Given the description of an element on the screen output the (x, y) to click on. 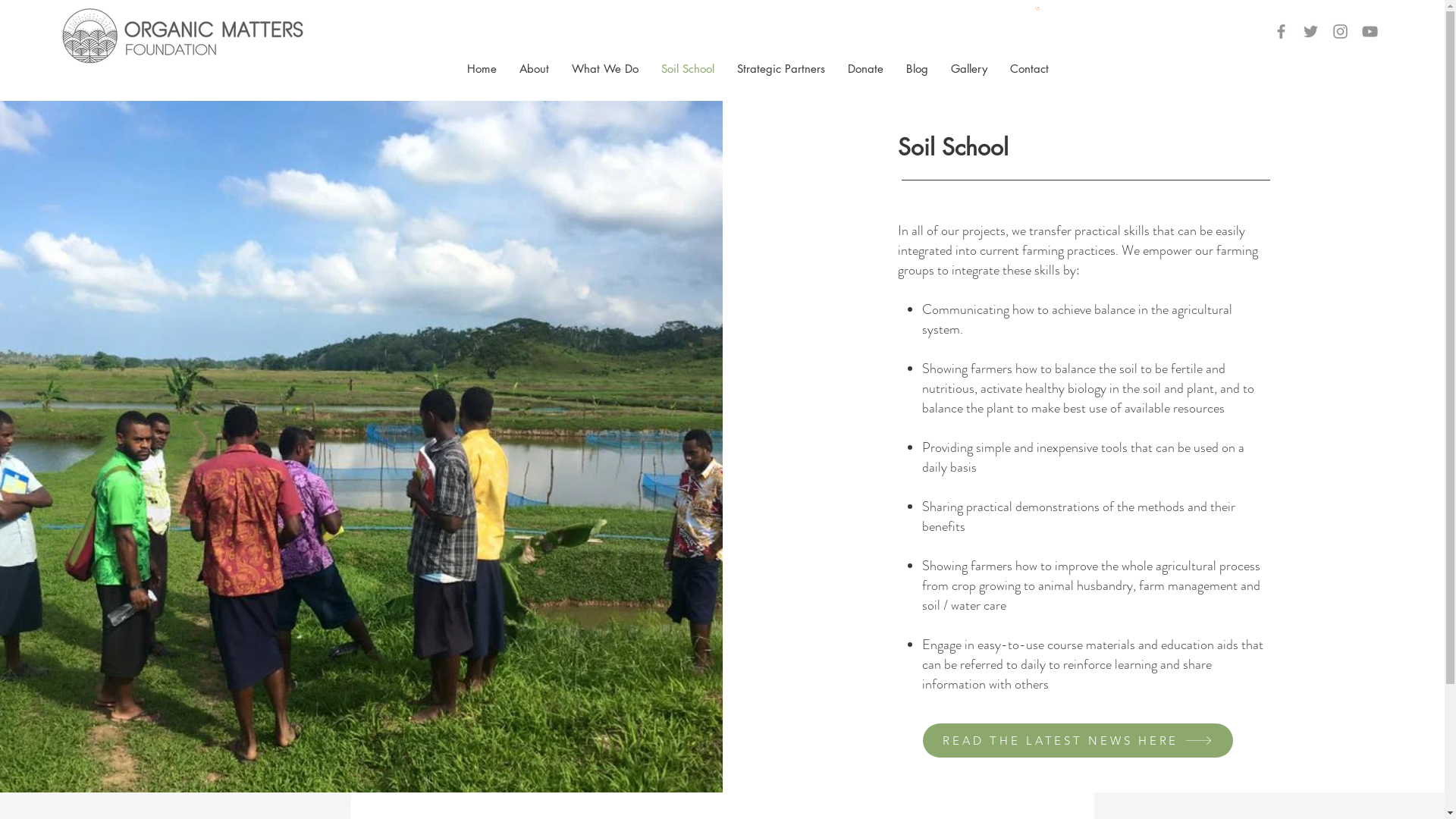
Soil School Element type: text (687, 68)
What We Do Element type: text (604, 68)
Organic Matters Foundation Element type: hover (183, 35)
Home Element type: text (481, 68)
About Element type: text (534, 68)
Strategic Partners Element type: text (780, 68)
READ THE LATEST NEWS HERE Element type: text (1077, 740)
Blog Element type: text (916, 68)
Gallery Element type: text (968, 68)
Contact Element type: text (1029, 68)
0 Element type: text (1036, 8)
Donate Element type: text (865, 68)
